Given the description of an element on the screen output the (x, y) to click on. 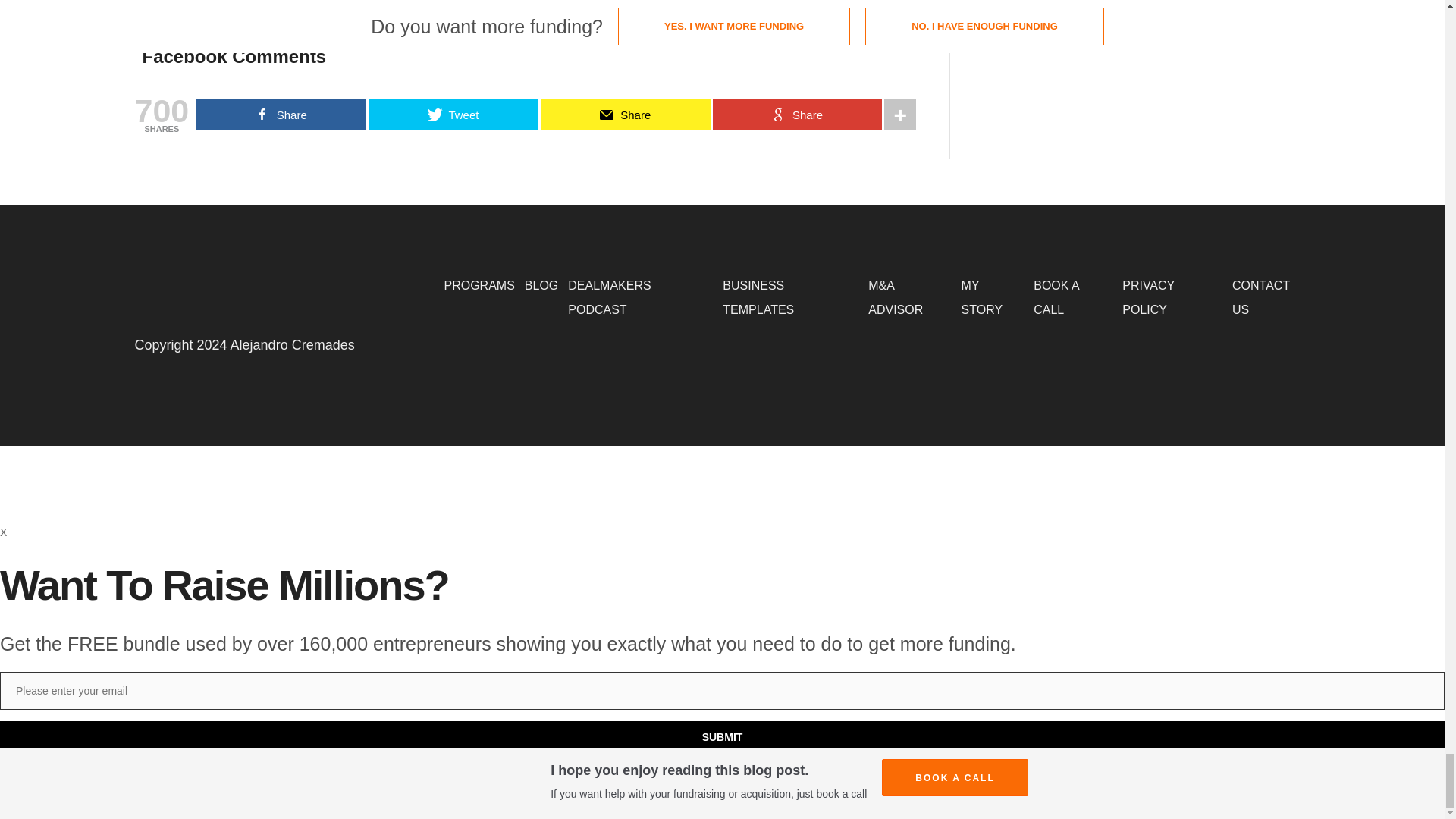
Subscribe on TuneIn (553, 11)
Subscribe on Stitcher (499, 11)
More (641, 11)
Subscribe on Google Podcasts (359, 11)
Subscribe via RSS (600, 11)
Subscribe on Apple Podcasts (249, 11)
Subscribe on Spotify (443, 11)
